Given the description of an element on the screen output the (x, y) to click on. 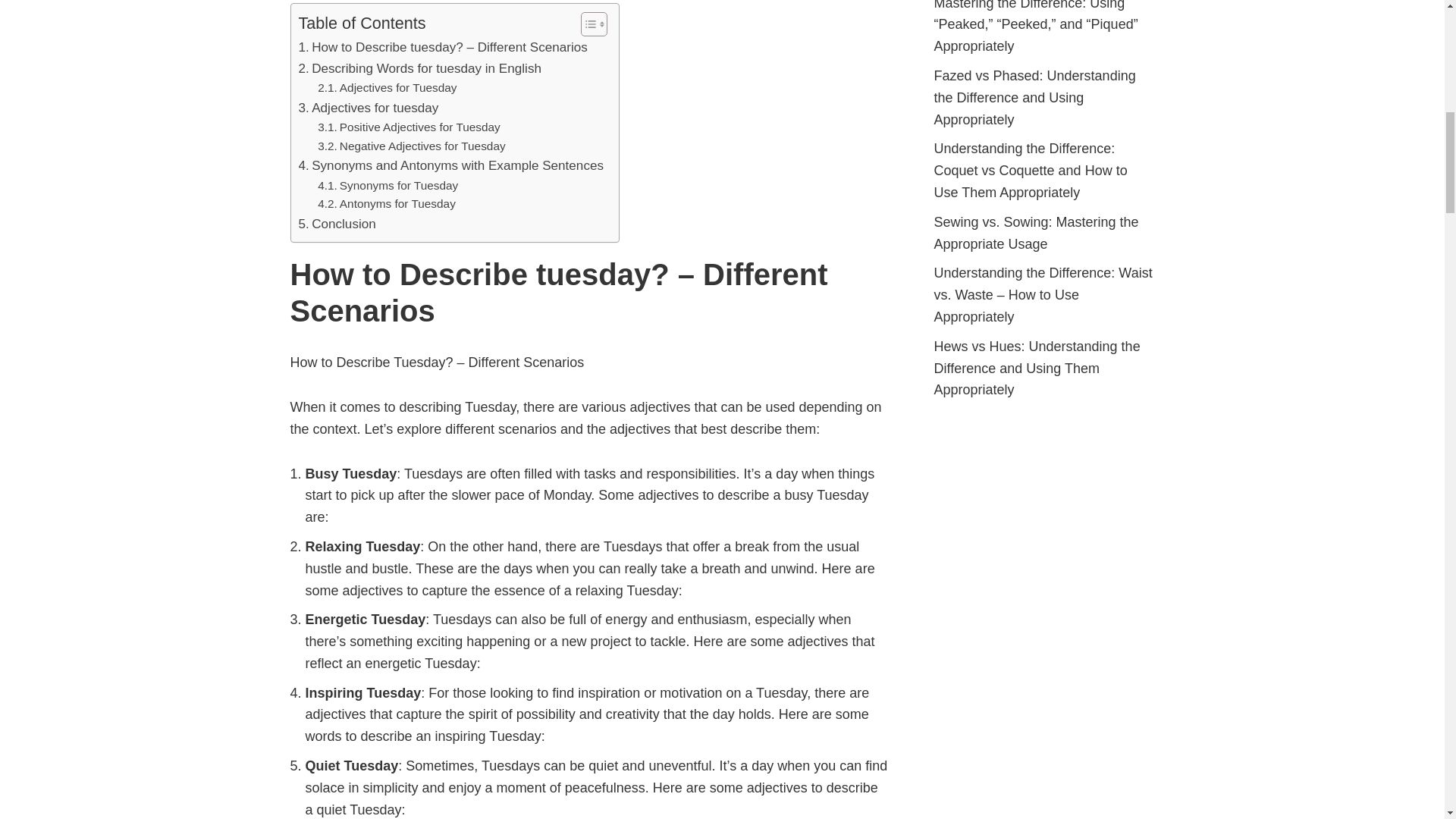
Describing Words for tuesday in English (419, 68)
Antonyms for Tuesday (386, 203)
Conclusion (336, 223)
Synonyms and Antonyms with Example Sentences (451, 165)
Adjectives for Tuesday (387, 87)
Adjectives for tuesday (368, 107)
Positive Adjectives for Tuesday (408, 127)
Synonyms for Tuesday (387, 185)
Negative Adjectives for Tuesday (411, 146)
